Given the description of an element on the screen output the (x, y) to click on. 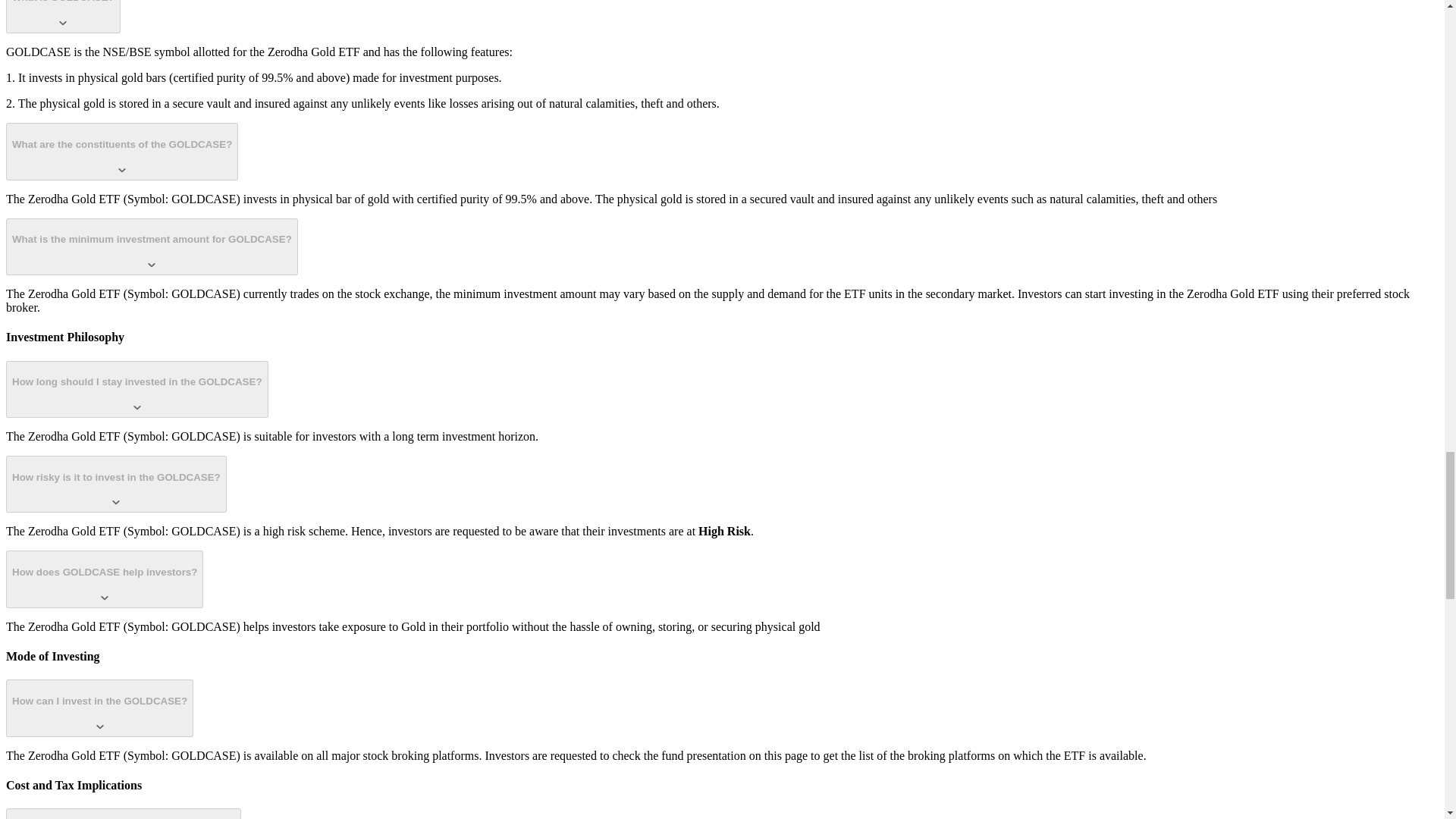
What are the constituents of the GOLDCASE? (121, 150)
What is the minimum investment amount for GOLDCASE? (151, 246)
How long should I stay invested in the GOLDCASE? (136, 389)
What is the Expense Ratio of the GOLDCASE? (123, 813)
How risky is it to invest in the GOLDCASE? (116, 483)
What is GOLDCASE? (62, 16)
How does GOLDCASE help investors? (104, 578)
How can I invest in the GOLDCASE? (99, 707)
